Given the description of an element on the screen output the (x, y) to click on. 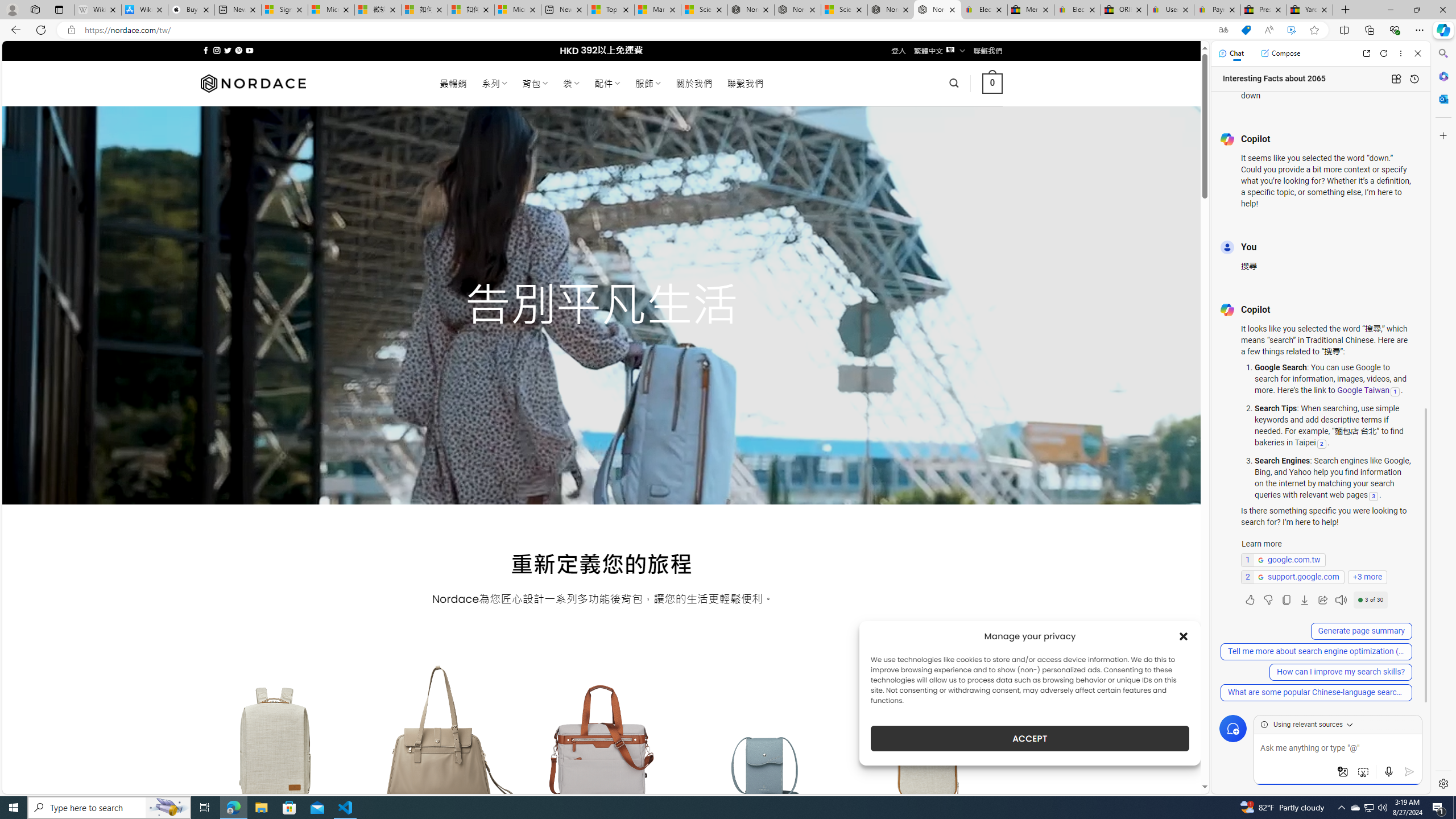
Compose (1280, 52)
Follow on YouTube (249, 50)
Yard, Garden & Outdoor Living (1309, 9)
